Given the description of an element on the screen output the (x, y) to click on. 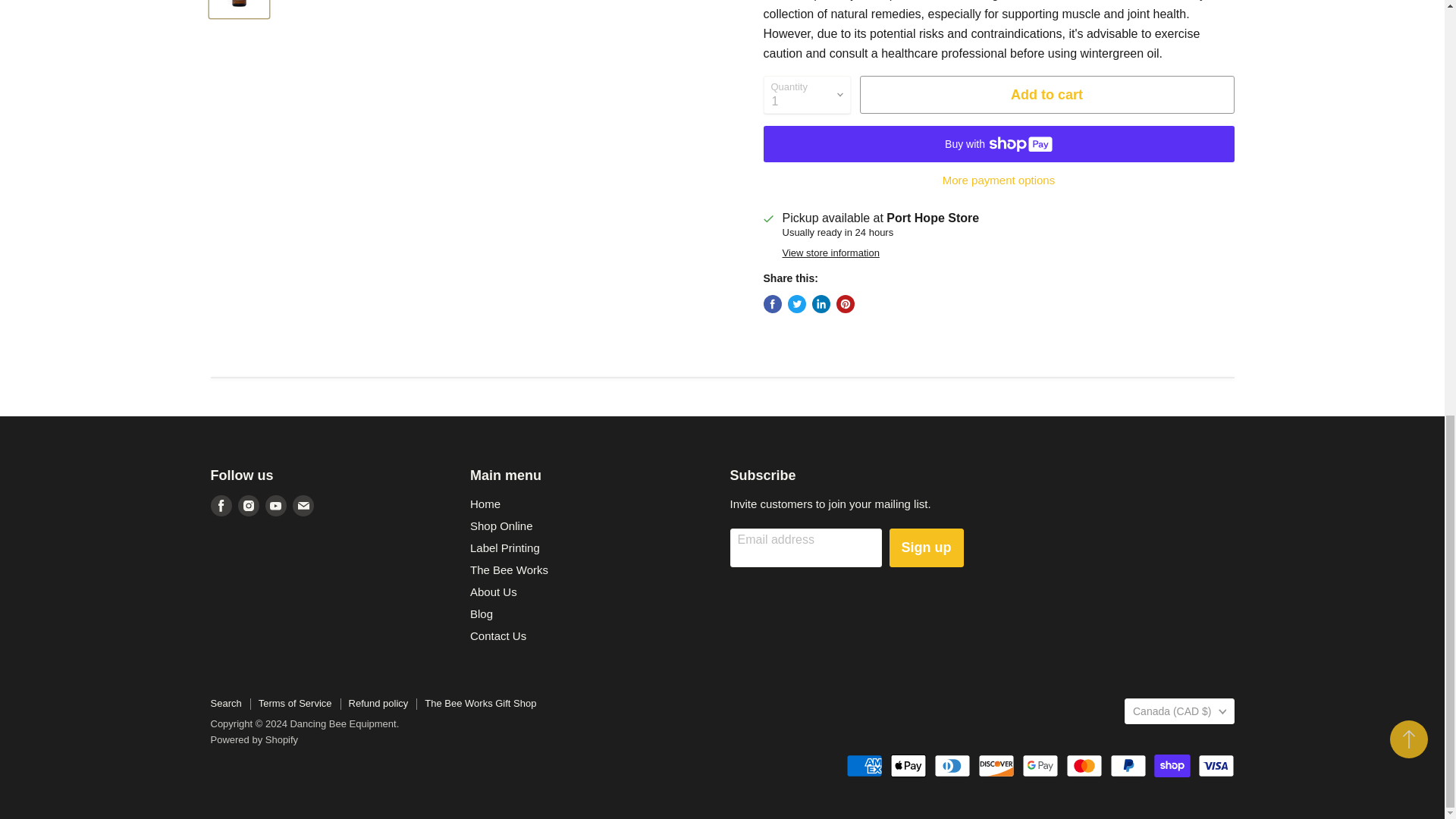
Email (303, 505)
Facebook (221, 505)
Instagram (248, 505)
Youtube (275, 505)
